Given the description of an element on the screen output the (x, y) to click on. 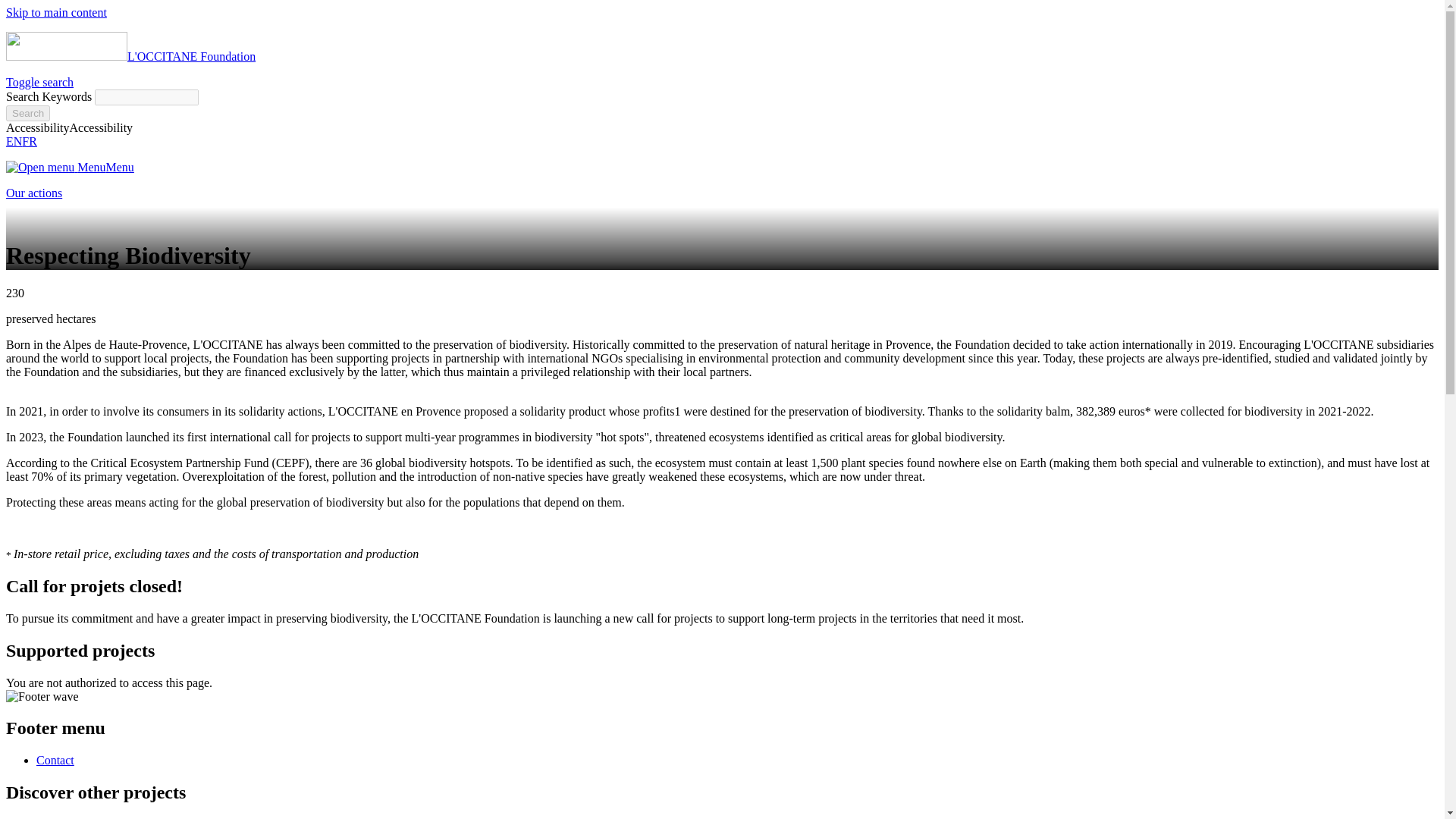
French version (29, 141)
Toggle search on mobile (39, 82)
Site search (146, 97)
Submit site search (27, 113)
Toggle search (39, 82)
English version (13, 141)
Contact (55, 759)
Search (27, 113)
FR (29, 141)
L'OCCITANE Foundation (130, 56)
